Given the description of an element on the screen output the (x, y) to click on. 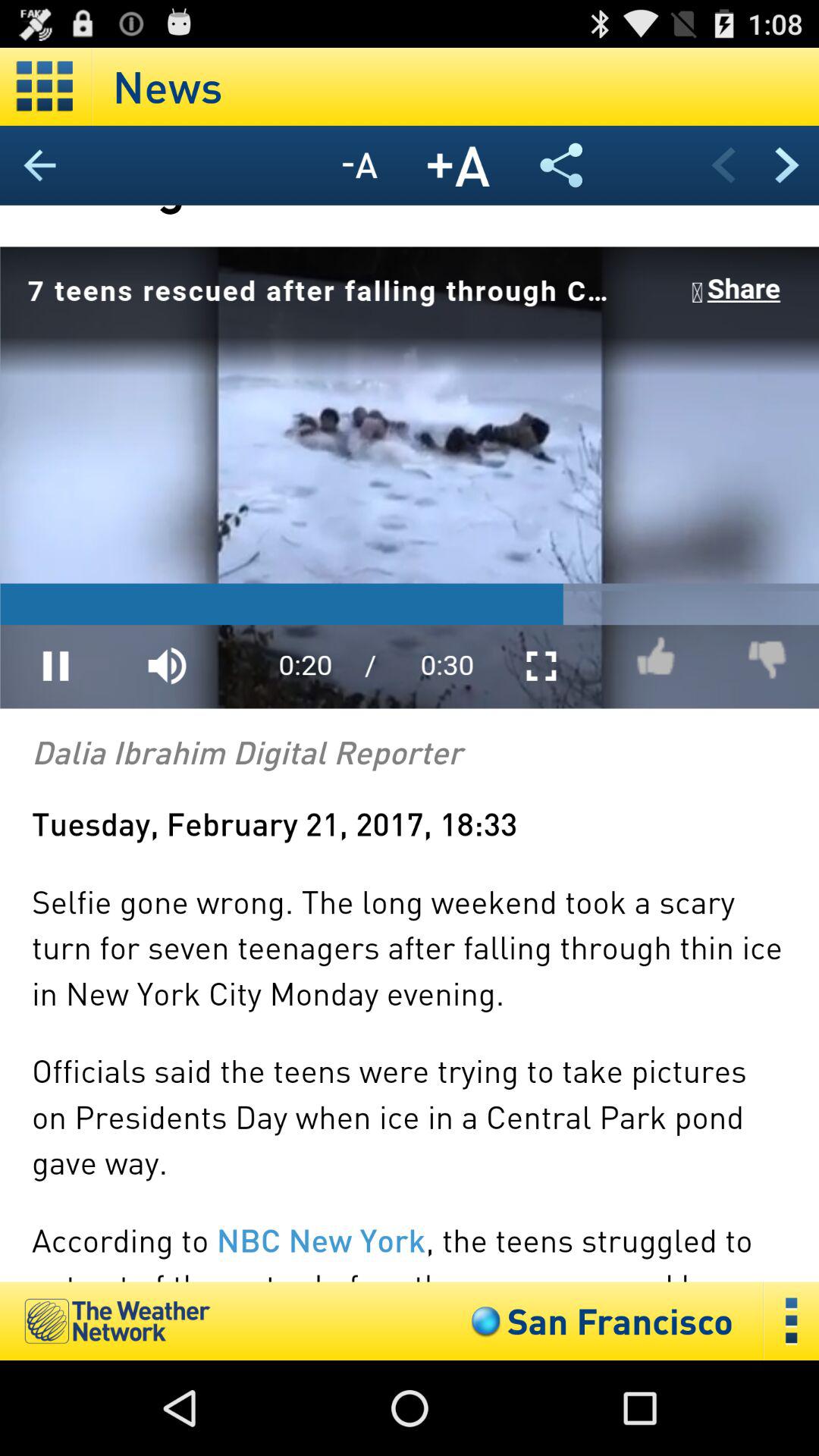
option (45, 86)
